Given the description of an element on the screen output the (x, y) to click on. 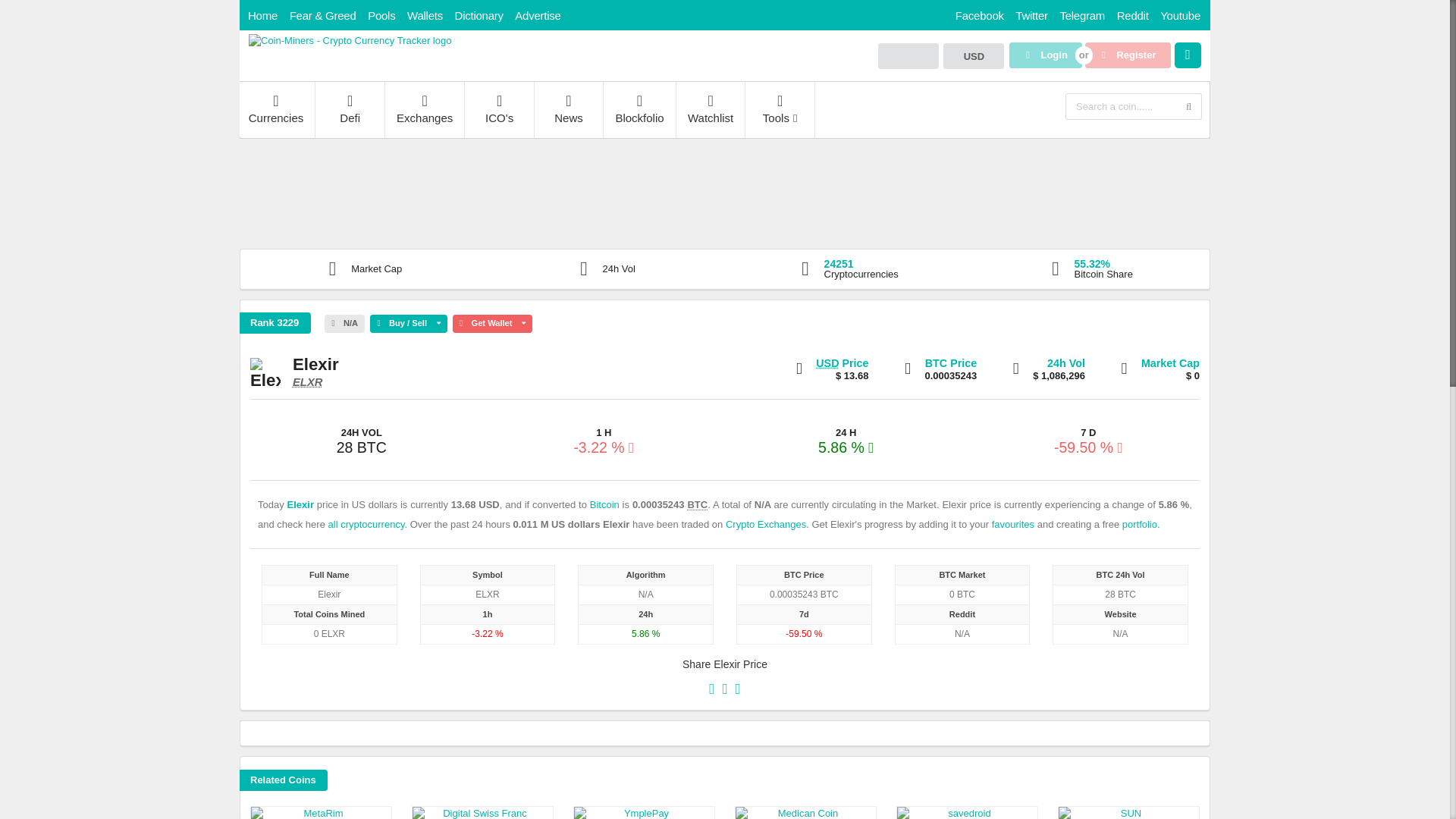
Coin-Miners - Crypto Currency Tracker (349, 40)
Exchanges (424, 109)
Defi Coins (350, 109)
Watchlist (711, 109)
Facebook (979, 15)
Coin-Miners - Crypto Currency Tracker (349, 41)
Register (1127, 54)
Login (1045, 54)
Pools (381, 15)
Advertise (537, 15)
Wallets (424, 15)
Pools (381, 15)
News  (569, 109)
Tools (780, 109)
All Coin (276, 109)
